Given the description of an element on the screen output the (x, y) to click on. 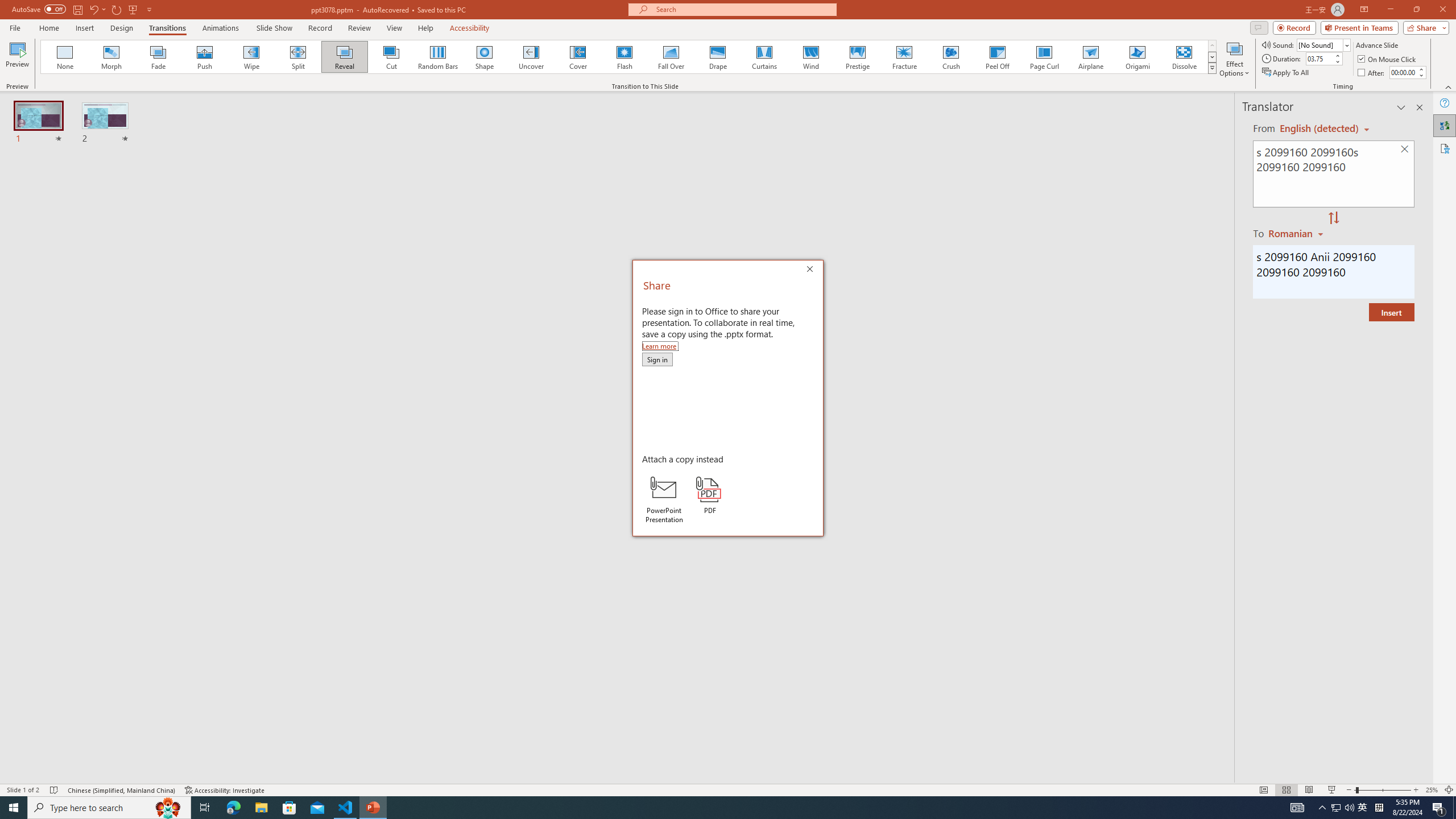
Morph (111, 56)
Fracture (903, 56)
Learn more (660, 345)
Airplane (1090, 56)
